Given the description of an element on the screen output the (x, y) to click on. 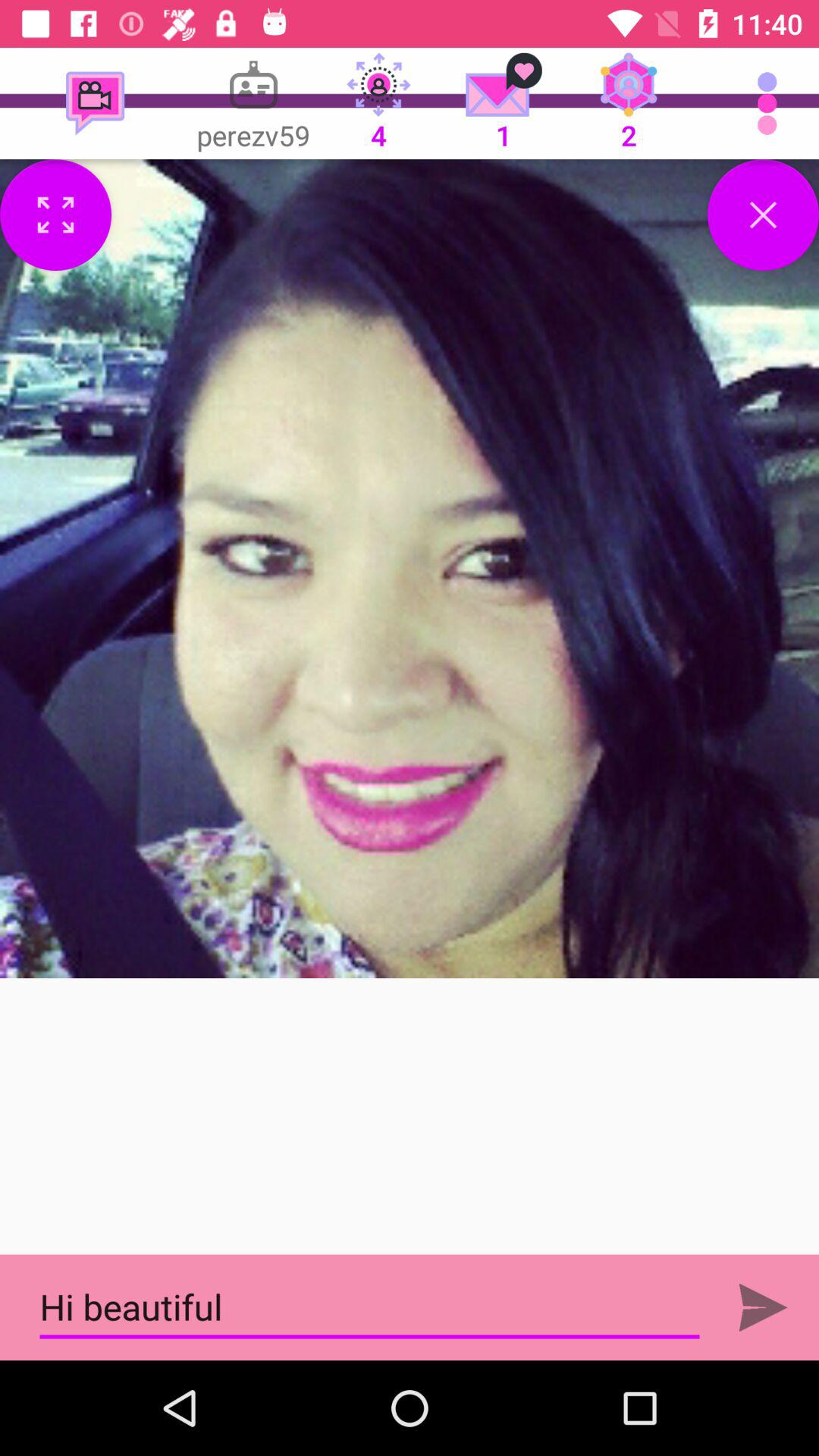
close (763, 214)
